Given the description of an element on the screen output the (x, y) to click on. 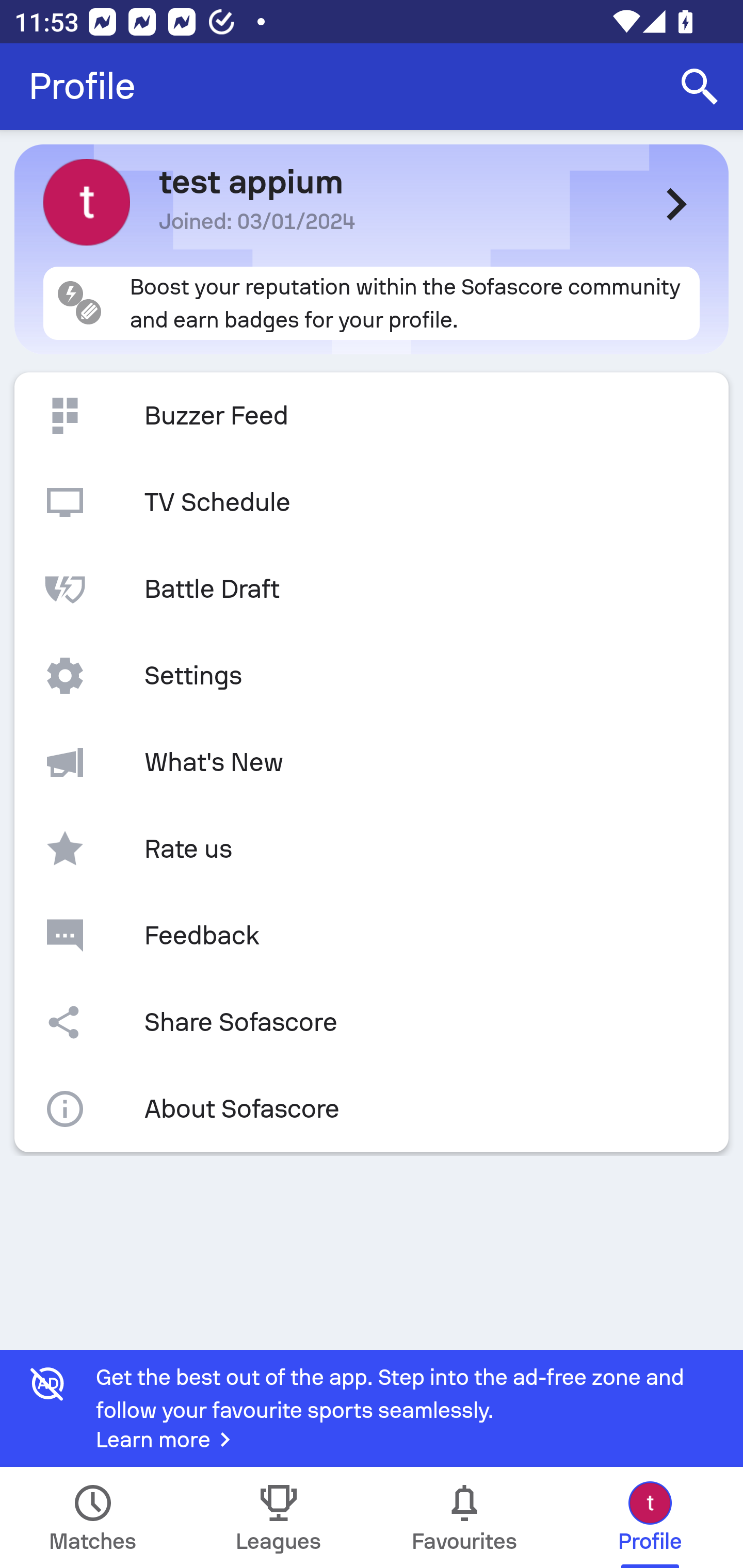
Profile (81, 86)
Search (699, 86)
Buzzer Feed (371, 416)
TV Schedule (371, 502)
Battle Draft (371, 588)
Settings (371, 675)
What's New (371, 762)
Rate us (371, 848)
Feedback (371, 935)
Share Sofascore (371, 1022)
About Sofascore (371, 1109)
Matches (92, 1517)
Leagues (278, 1517)
Favourites (464, 1517)
